Given the description of an element on the screen output the (x, y) to click on. 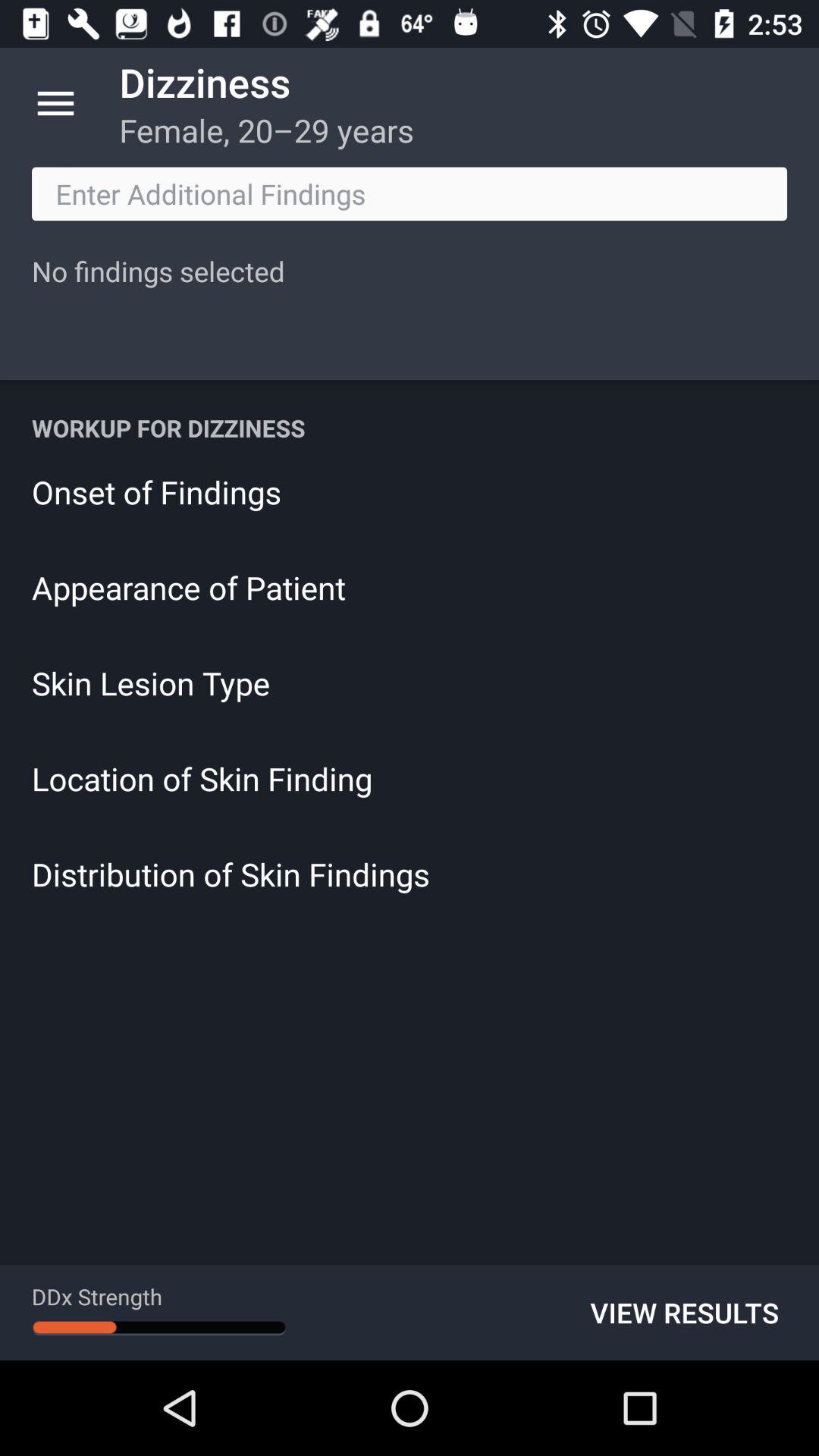
enter additional findings (409, 193)
